Given the description of an element on the screen output the (x, y) to click on. 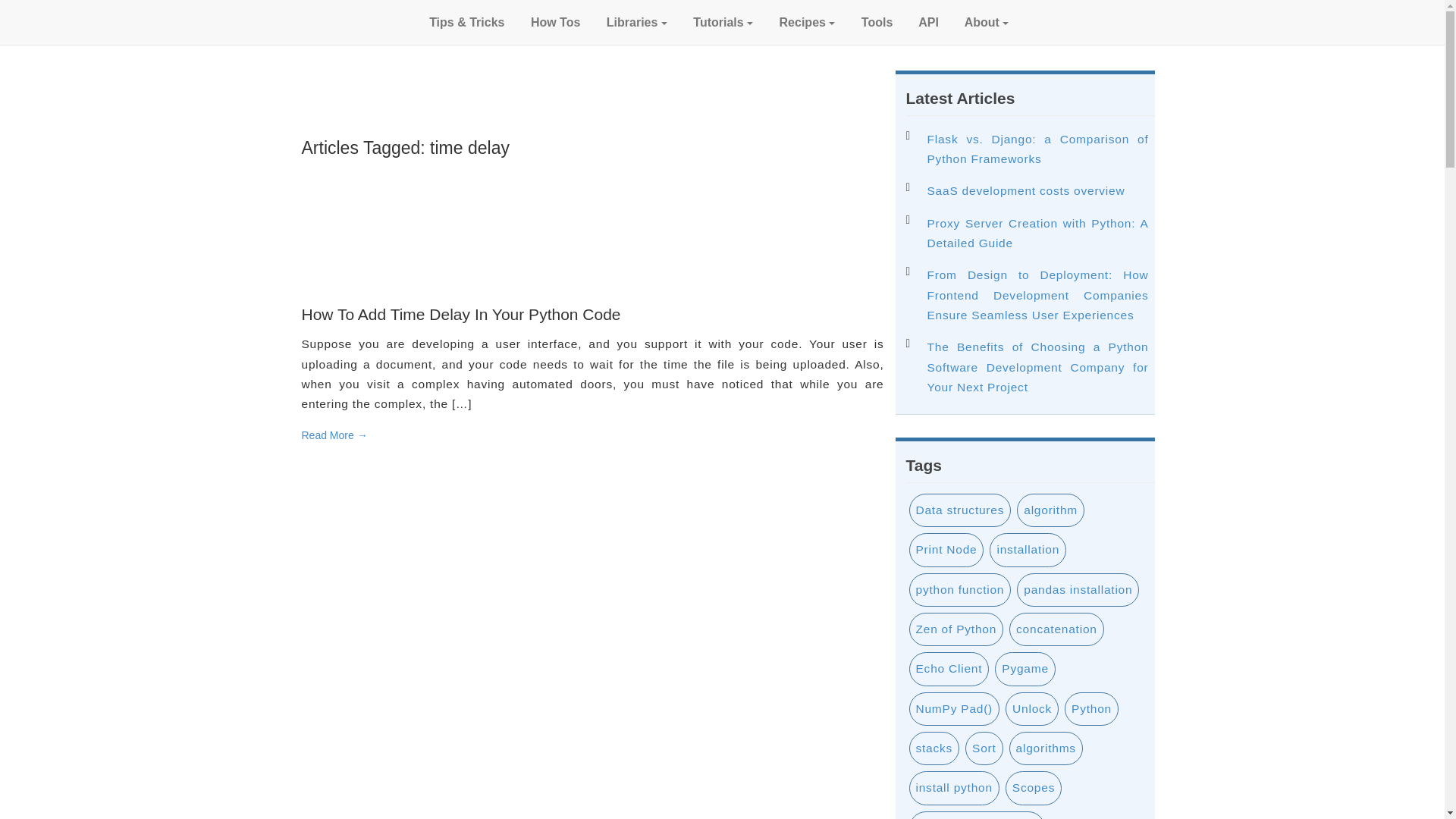
Python Recipes (804, 22)
algorithm (1050, 509)
 About (985, 22)
 Tools (874, 22)
Zen of Python (956, 628)
Pygame (1024, 667)
SaaS development costs overview (1037, 191)
 Libraries (634, 22)
concatenation (1056, 628)
